Given the description of an element on the screen output the (x, y) to click on. 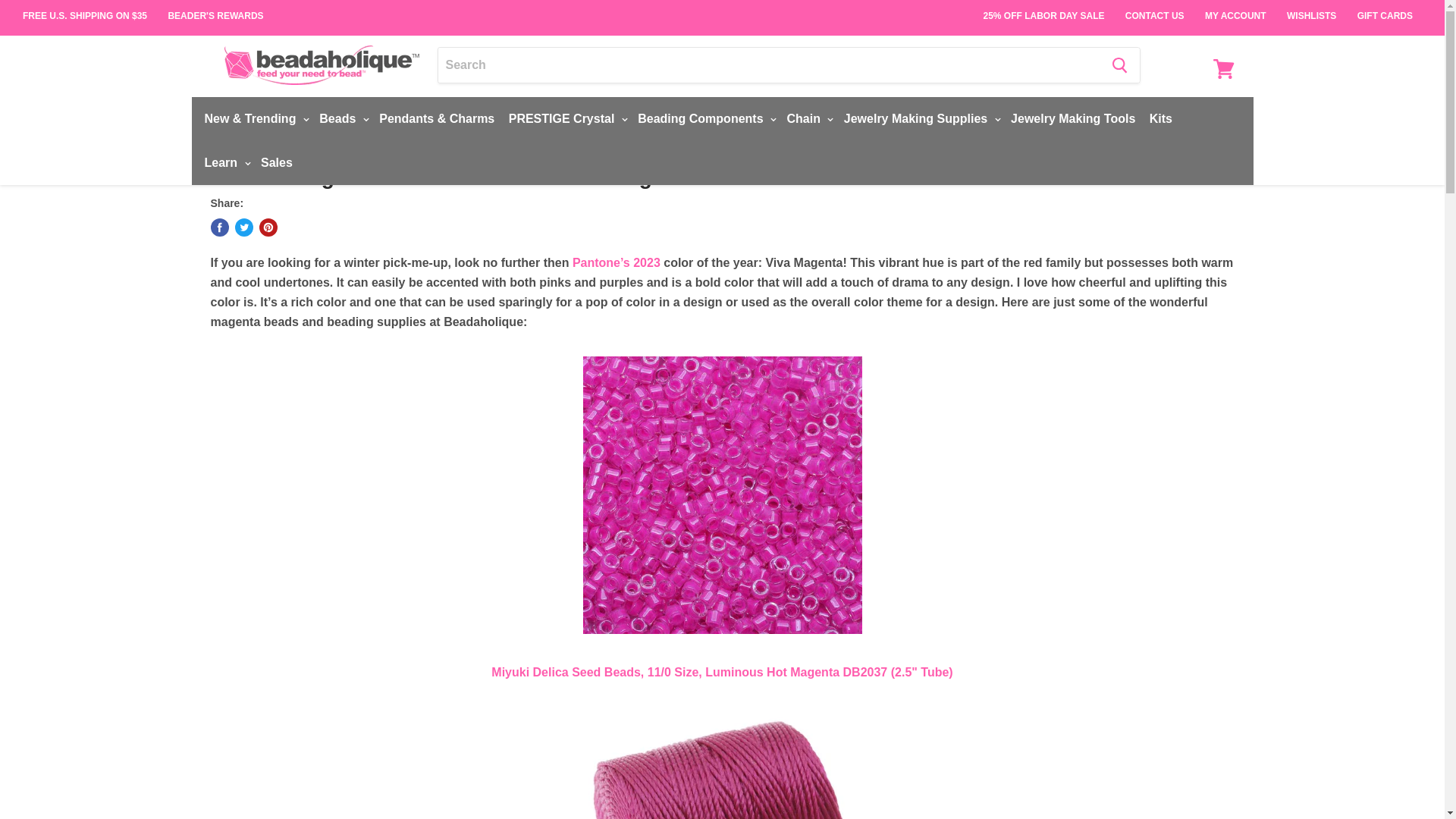
CONTACT US (1154, 9)
Beads (341, 119)
WISHLISTS (1311, 9)
GIFT CARDS (1385, 9)
BEADER'S REWARDS (215, 15)
MY ACCOUNT (1235, 9)
View cart (1223, 68)
